Given the description of an element on the screen output the (x, y) to click on. 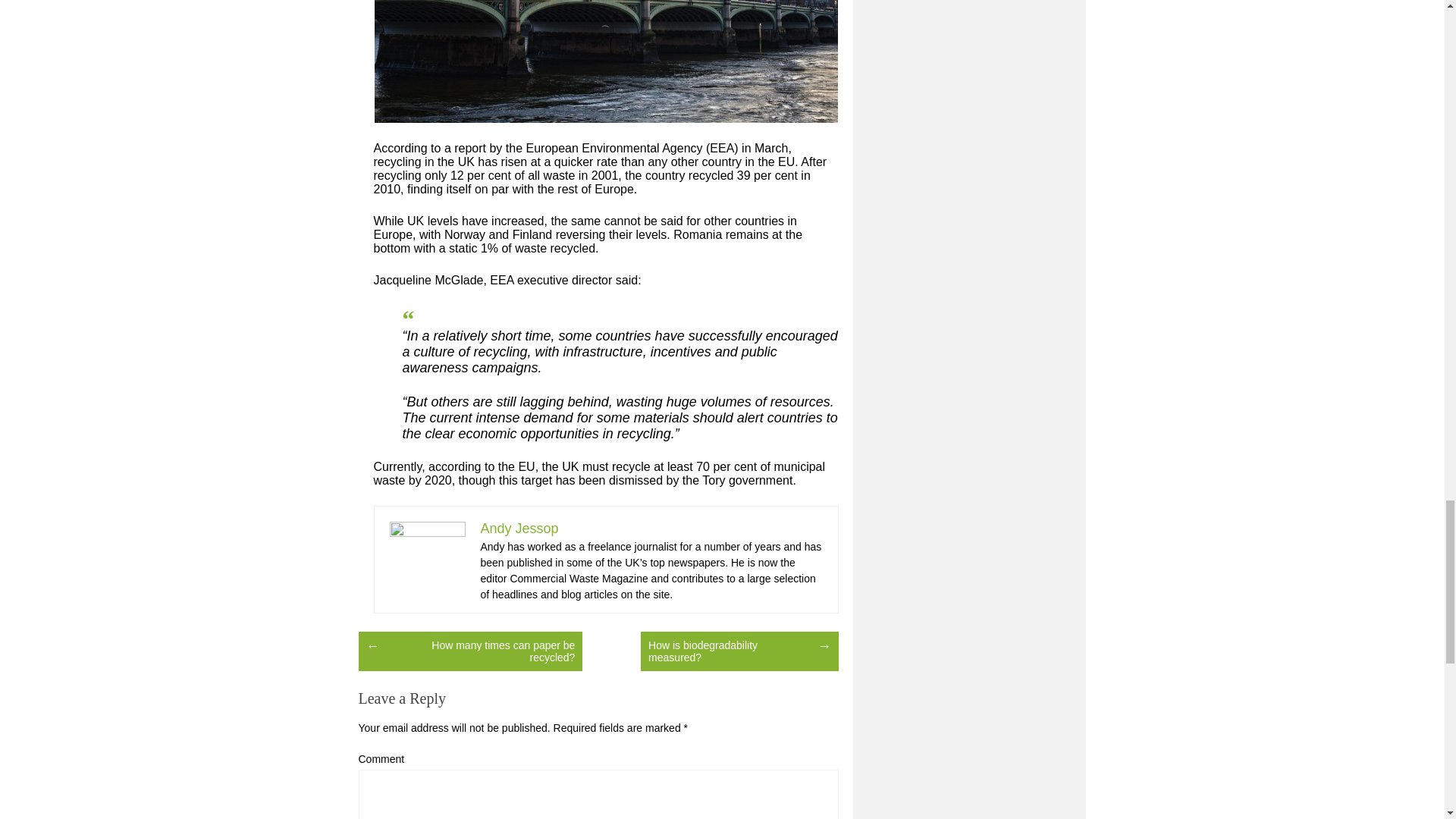
Andy Jessop (519, 528)
